Given the description of an element on the screen output the (x, y) to click on. 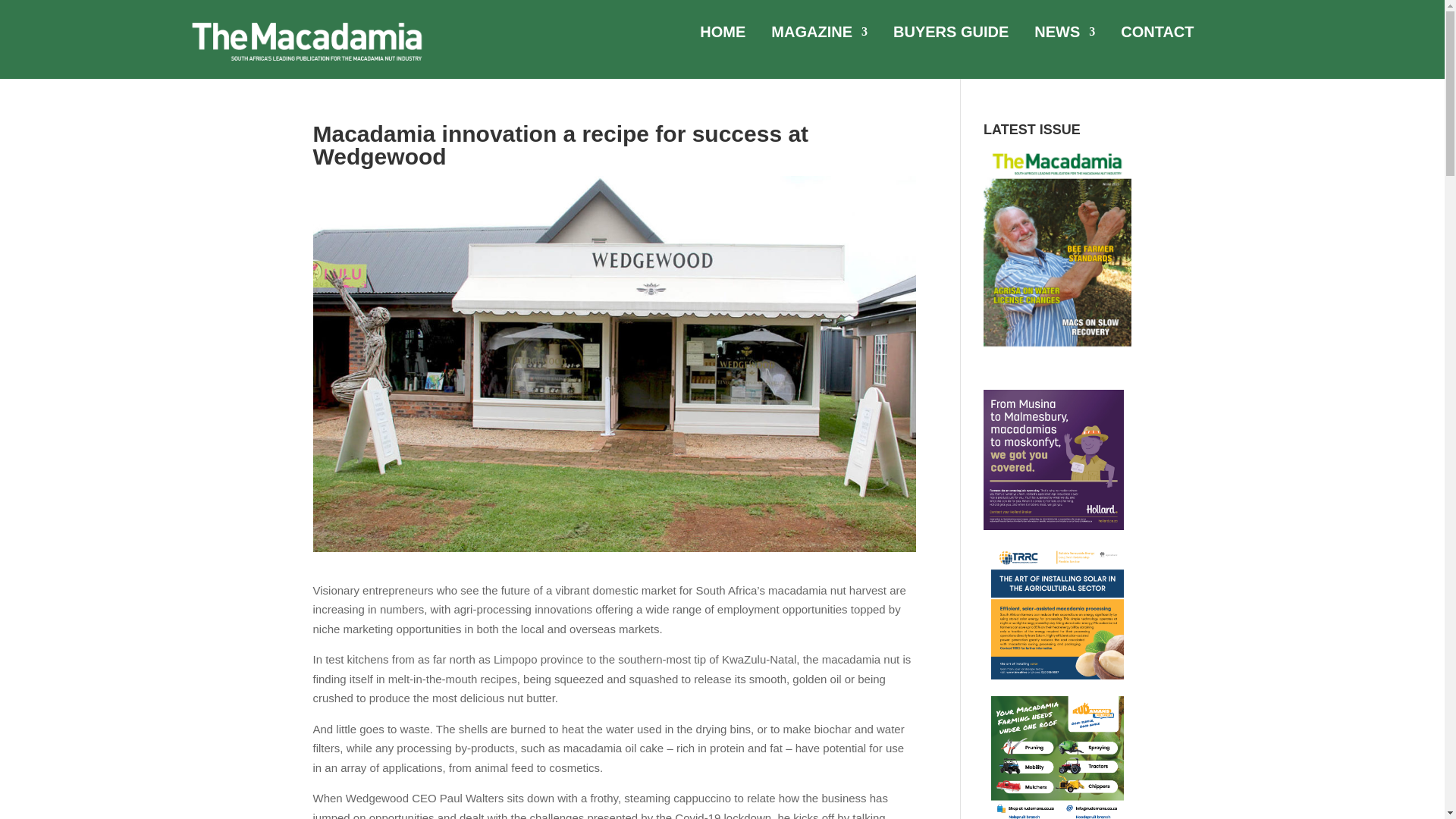
CONTACT (1157, 34)
BUYERS GUIDE (951, 34)
TheMacadamiaSA-logo (306, 41)
HOME (722, 34)
MAGAZINE (819, 34)
NEWS (1063, 34)
